Given the description of an element on the screen output the (x, y) to click on. 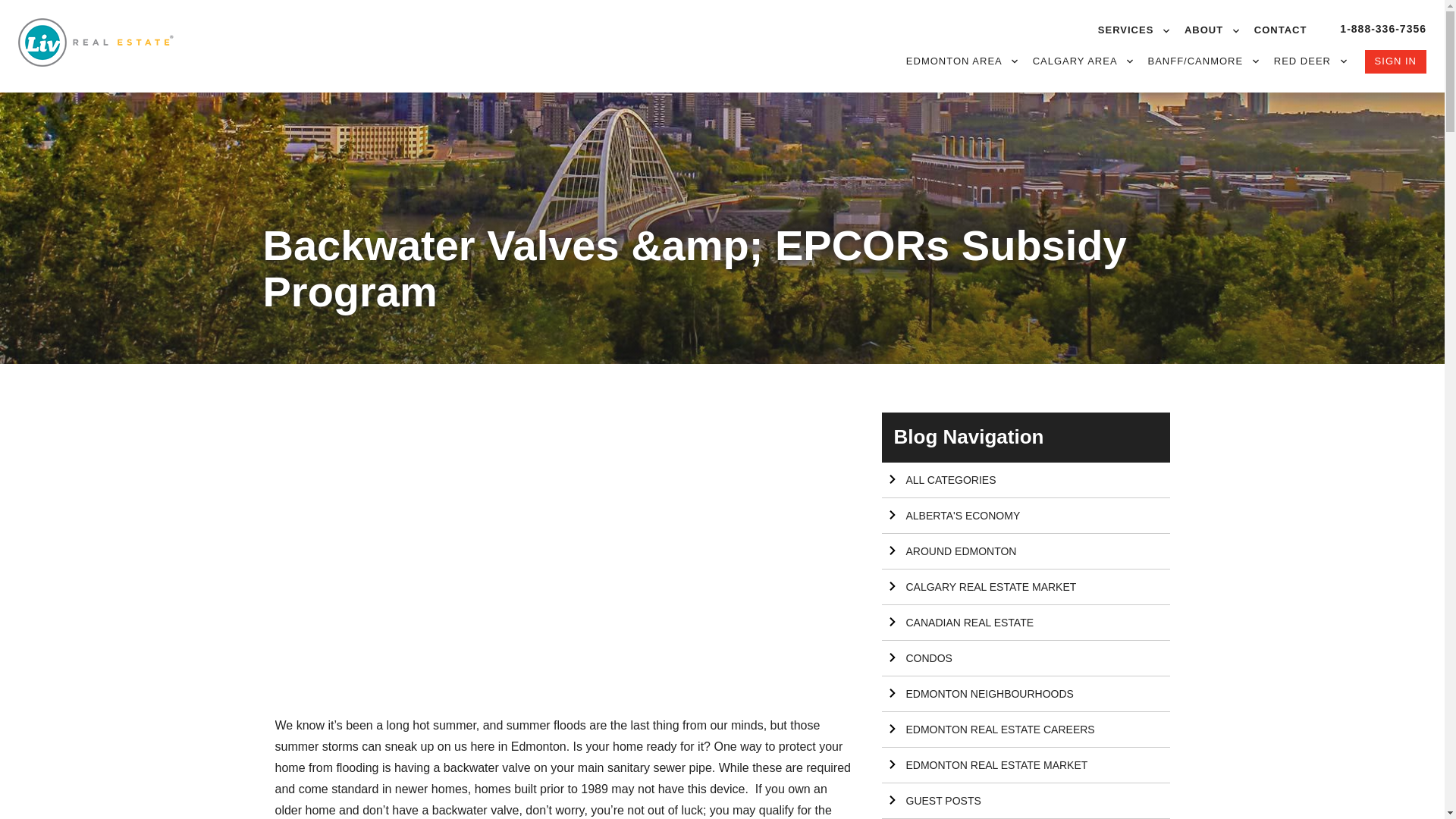
SERVICES DROPDOWN ARROW (1133, 30)
CONTACT (1280, 30)
DROPDOWN ARROW (1236, 30)
EDMONTON AREA DROPDOWN ARROW (961, 61)
ABOUT DROPDOWN ARROW (1212, 30)
DROPDOWN ARROW (1166, 30)
DROPDOWN ARROW (1255, 61)
CALGARY AREA DROPDOWN ARROW (1082, 61)
DROPDOWN ARROW (1129, 61)
DROPDOWN ARROW (1343, 61)
1-888-336-7356 (1382, 29)
DROPDOWN ARROW (1014, 61)
